Given the description of an element on the screen output the (x, y) to click on. 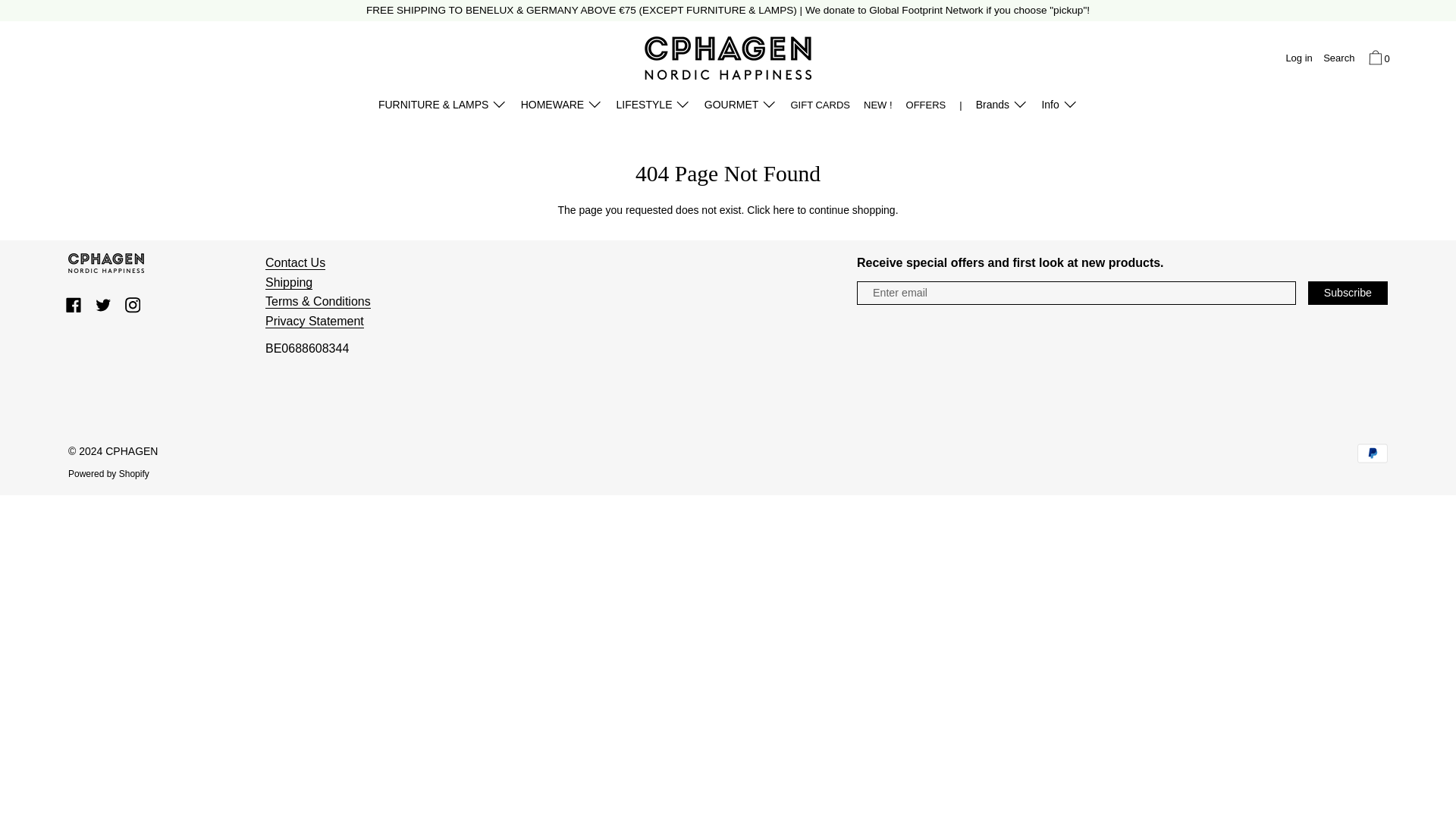
Search (1338, 59)
Contact Us (294, 263)
Brands (1002, 106)
LIFESTYLE (652, 106)
CPHAGEN on Instagram (132, 304)
0 (1376, 59)
PayPal (1371, 453)
GIFT CARDS (820, 107)
Log in (1298, 59)
GOURMET (740, 106)
